Given the description of an element on the screen output the (x, y) to click on. 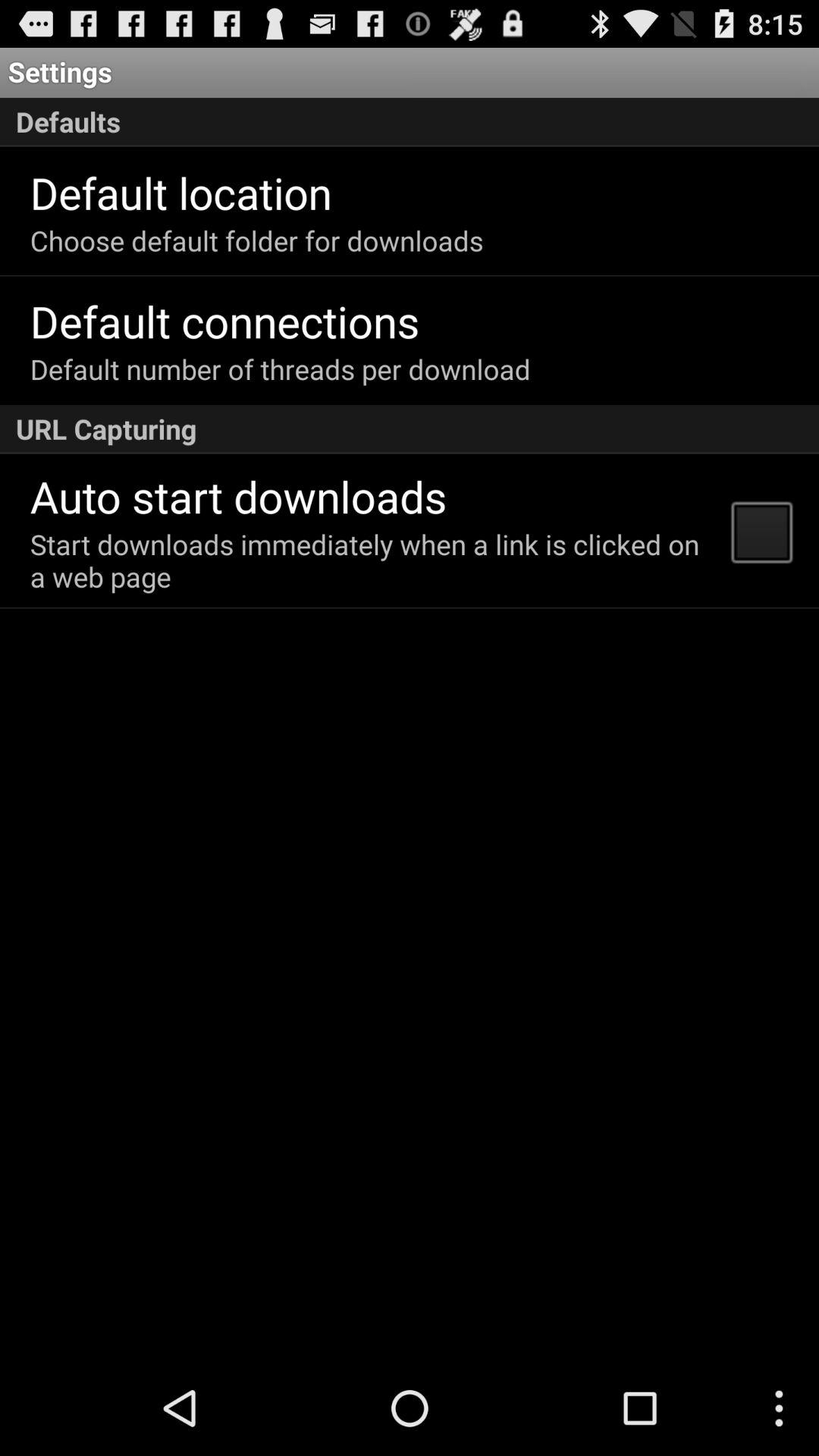
swipe until the default number of icon (280, 368)
